Given the description of an element on the screen output the (x, y) to click on. 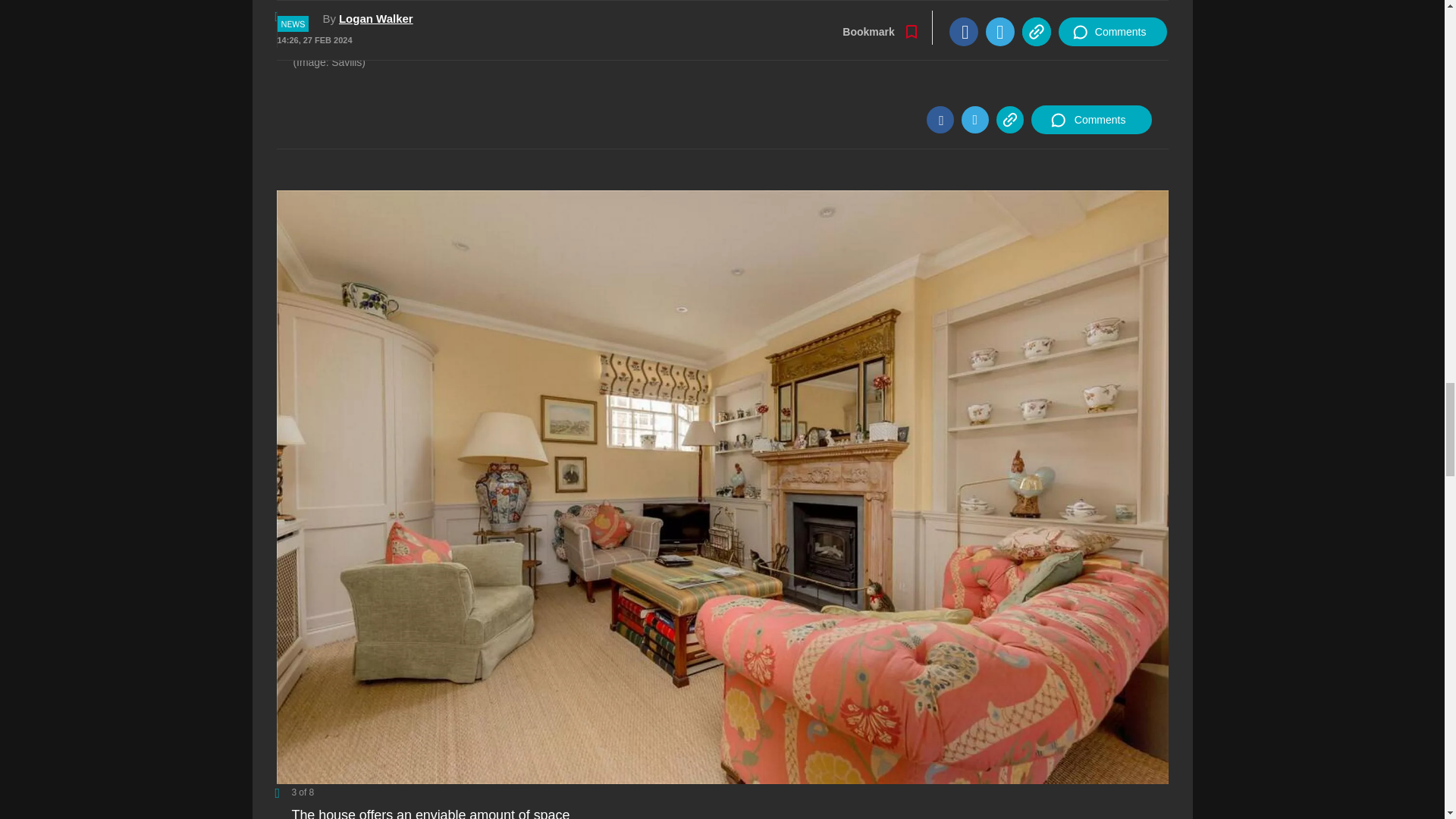
Twitter (974, 119)
Comments (1090, 119)
Facebook (939, 119)
